Given the description of an element on the screen output the (x, y) to click on. 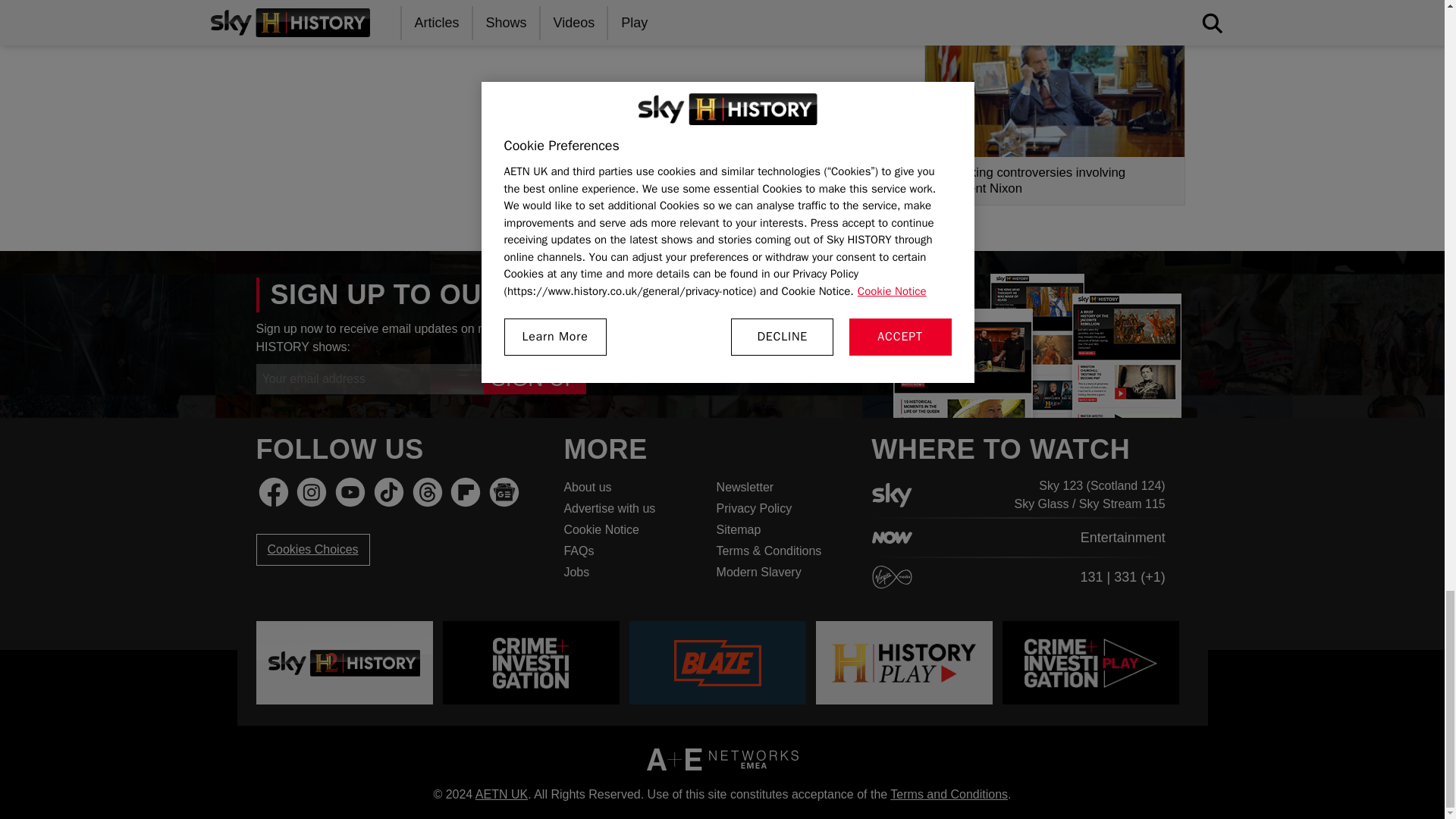
Modern Slavery (783, 572)
6 shocking controversies involving President Nixon (1054, 116)
Sign Up (534, 378)
Live Aid: The day music changed the world (1054, 2)
Advertise with us (630, 508)
HISTORY Newsletter (783, 487)
FAQs (630, 551)
Newsletter (783, 487)
Sitemap of the site (783, 529)
Privacy Policy (783, 508)
Sitemap (783, 529)
Cookie Notice (630, 529)
Sign Up (534, 378)
Cookies Choices (312, 549)
Jobs (630, 572)
